Given the description of an element on the screen output the (x, y) to click on. 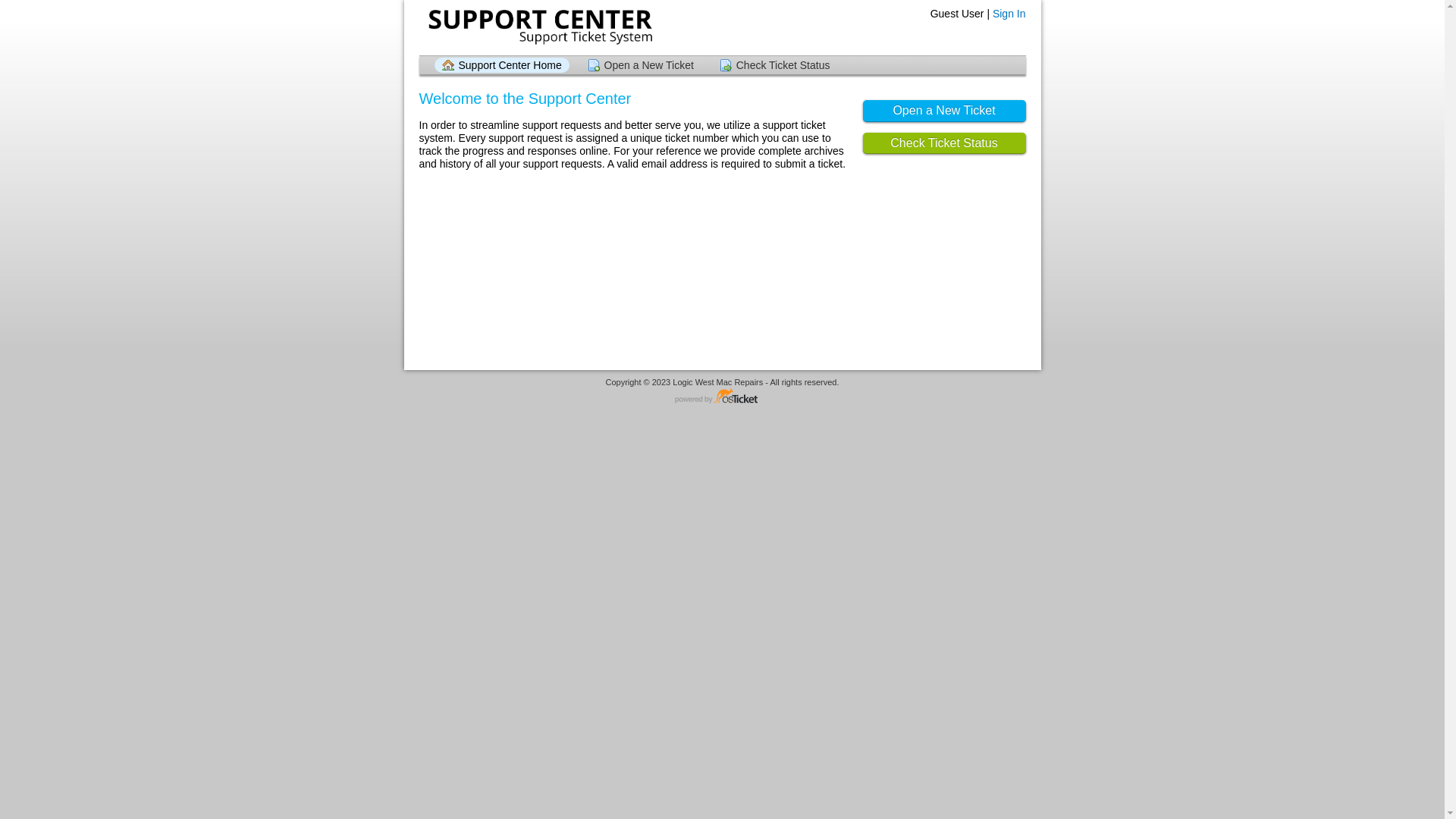
Support Center Home Element type: text (500, 64)
Check Ticket Status Element type: text (774, 64)
Open a New Ticket Element type: text (640, 64)
Support Center Element type: hover (538, 26)
Sign In Element type: text (1009, 13)
Helpdesk software - powered by osTicket Element type: text (722, 396)
Open a New Ticket Element type: text (944, 111)
Check Ticket Status Element type: text (944, 143)
